Given the description of an element on the screen output the (x, y) to click on. 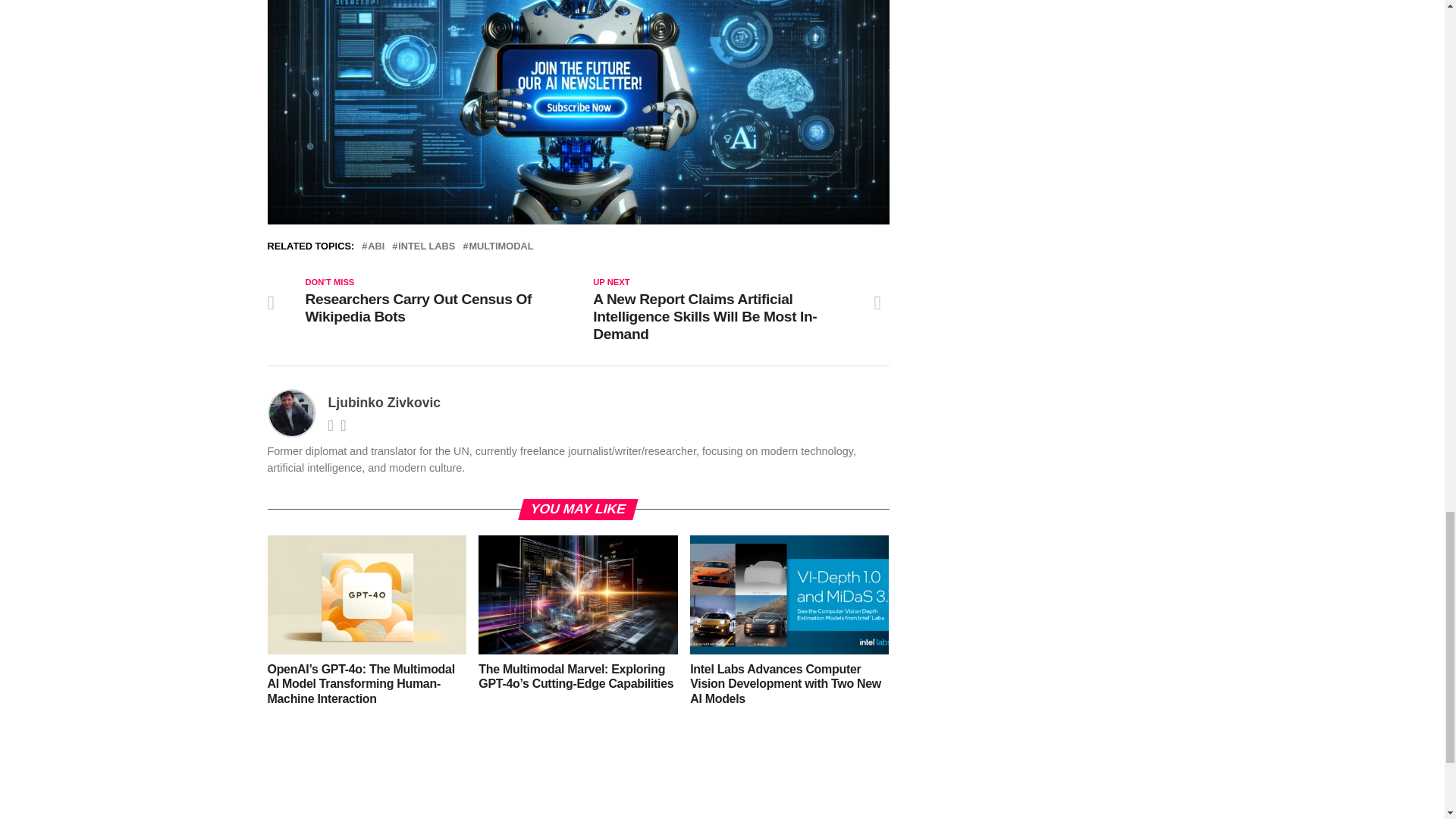
Posts by Ljubinko Zivkovic (384, 402)
